Given the description of an element on the screen output the (x, y) to click on. 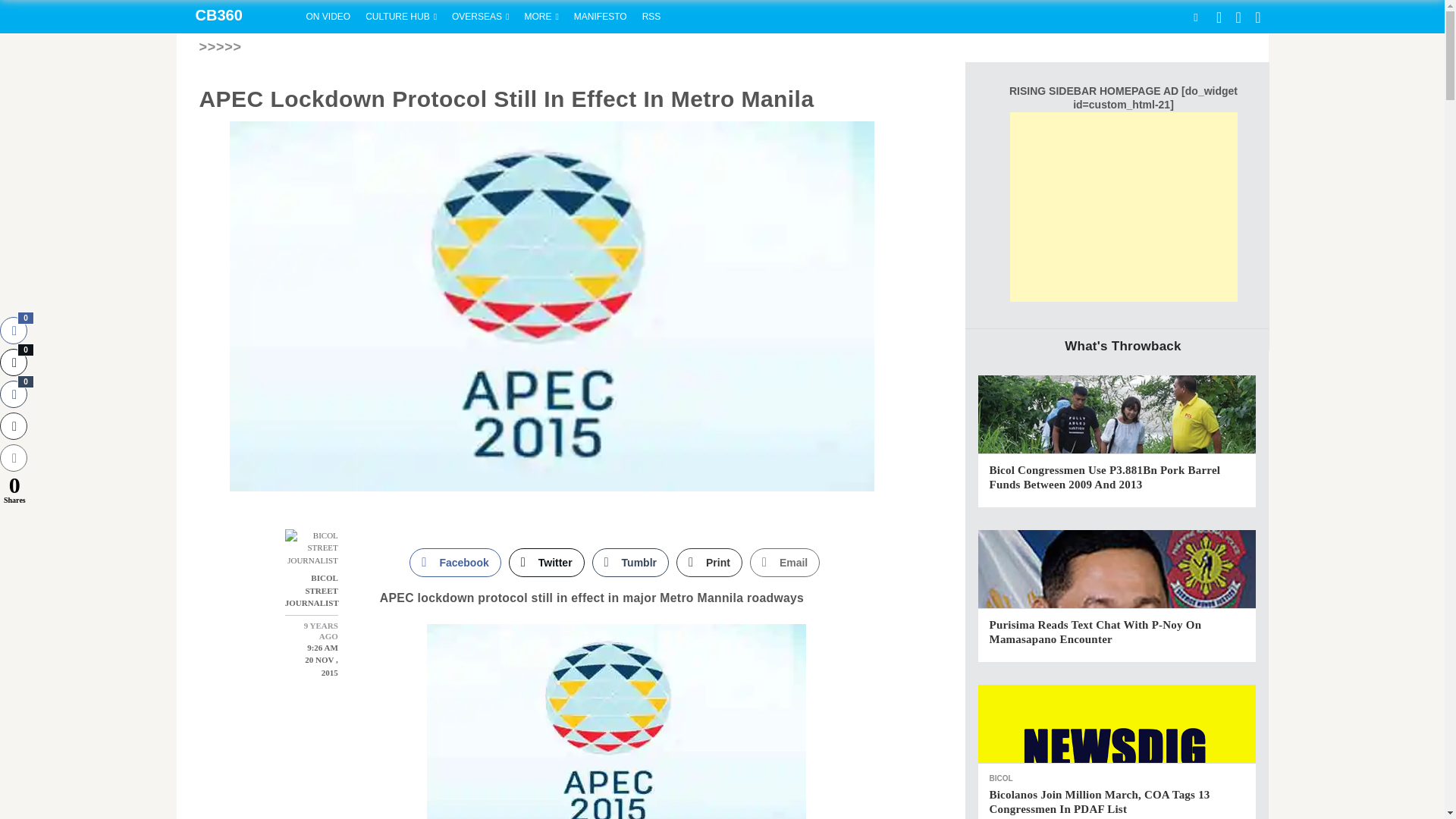
CB360 (237, 16)
MORE (541, 16)
world (480, 16)
About Us (600, 16)
OVERSEAS (480, 16)
ON VIDEO (328, 16)
CULTURE HUB (401, 16)
RSS Feed-Subscribe (651, 16)
